Given the description of an element on the screen output the (x, y) to click on. 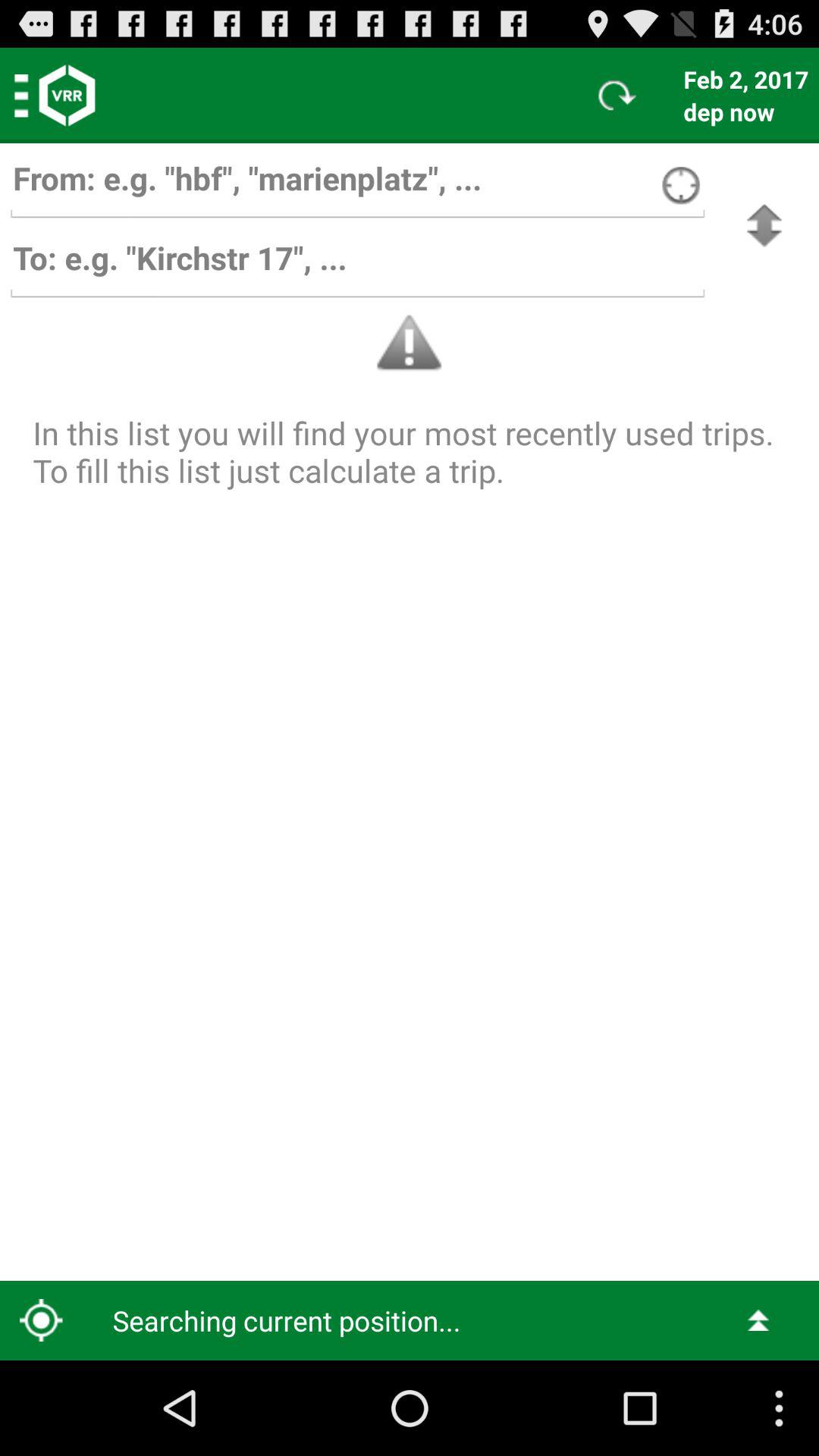
choose app next to the feb 2, 2017 app (617, 95)
